Given the description of an element on the screen output the (x, y) to click on. 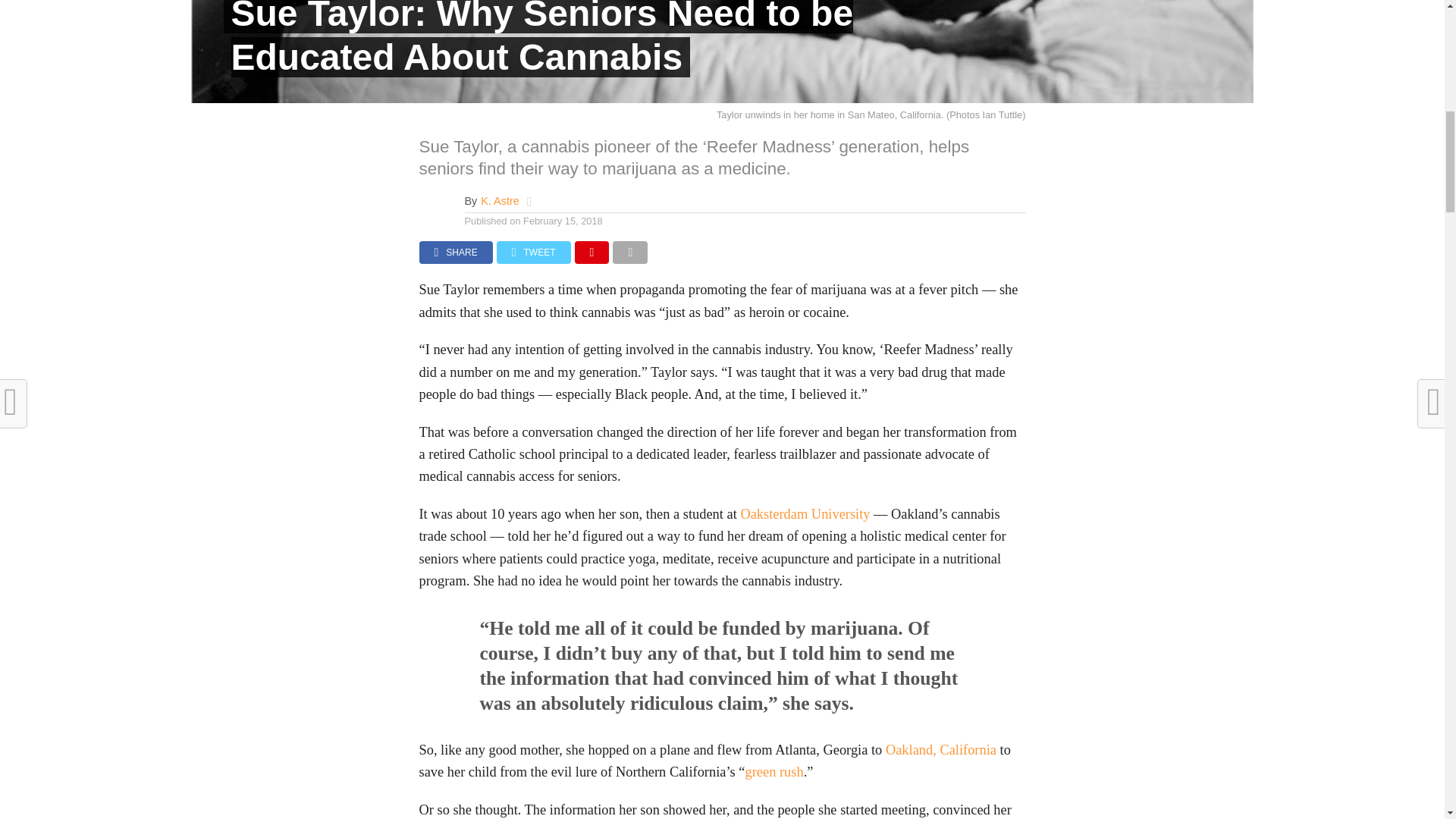
Posts by K. Astre (499, 200)
